Given the description of an element on the screen output the (x, y) to click on. 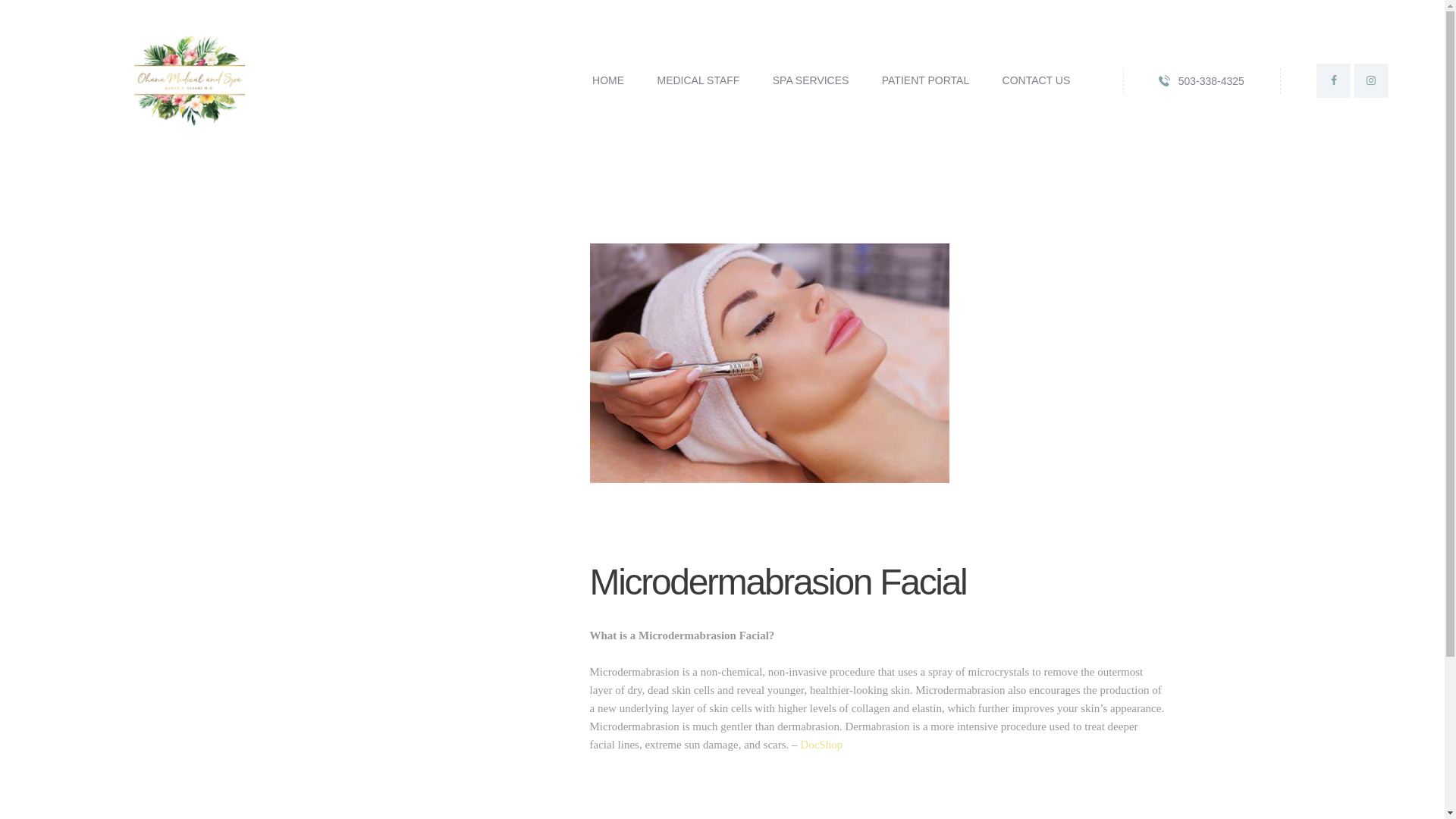
MEDICAL STAFF (697, 80)
SPA SERVICES (809, 80)
503-338-4325 (1201, 80)
DocShop (821, 744)
PATIENT PORTAL (924, 80)
CONTACT US (1035, 80)
HOME (607, 80)
